Given the description of an element on the screen output the (x, y) to click on. 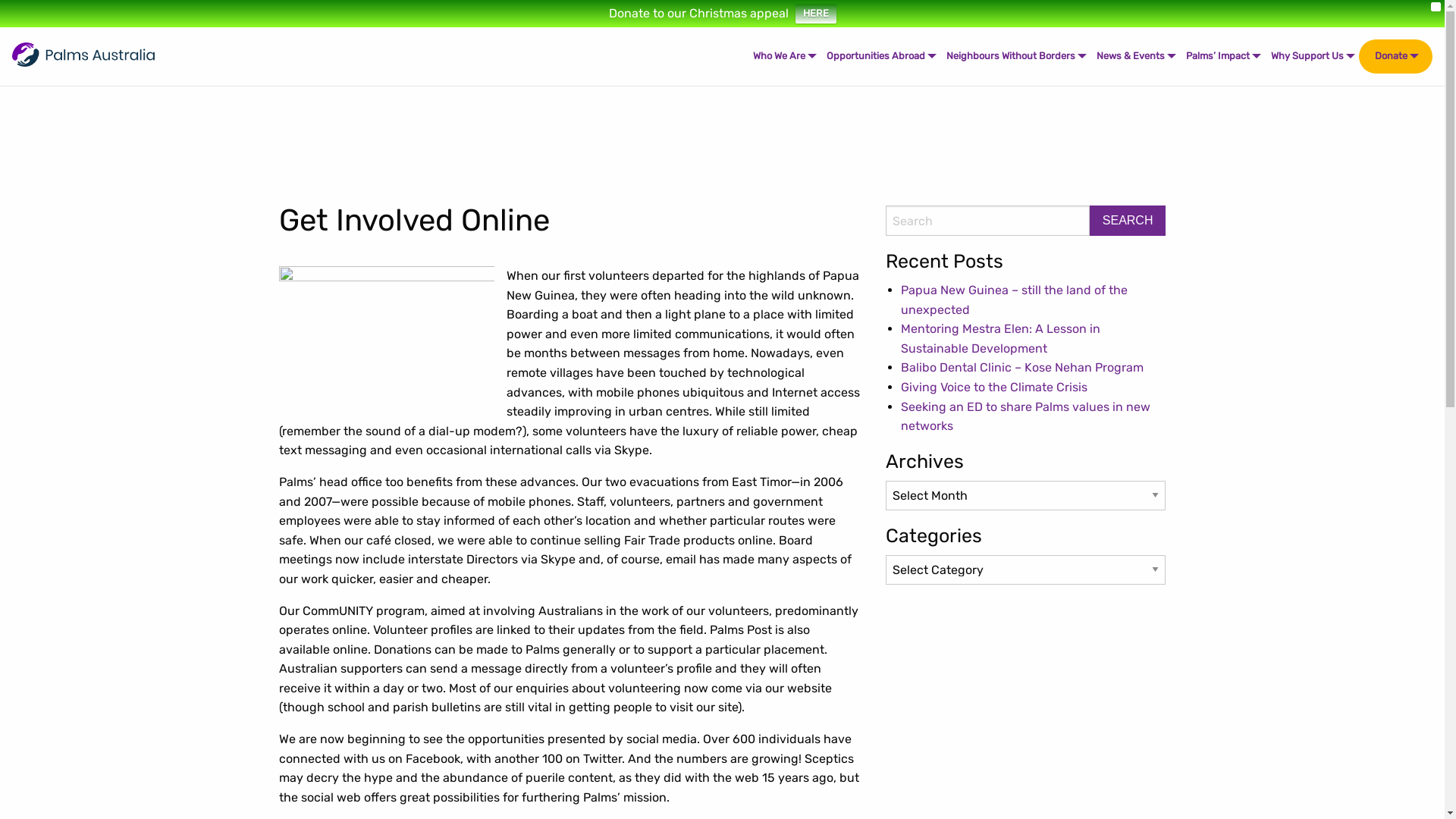
Who We Are Element type: text (783, 56)
Opportunities Abroad Element type: text (880, 56)
Why Support Us Element type: text (1311, 56)
Donate Element type: text (1395, 56)
Giving Voice to the Climate Crisis Element type: text (993, 386)
Seeking an ED to share Palms values in new networks Element type: text (1025, 416)
Search Element type: text (1127, 220)
Neighbours Without Borders Element type: text (1015, 56)
HERE Element type: text (814, 13)
News & Events Element type: text (1134, 56)
Mentoring Mestra Elen: A Lesson in Sustainable Development Element type: text (1000, 338)
